Given the description of an element on the screen output the (x, y) to click on. 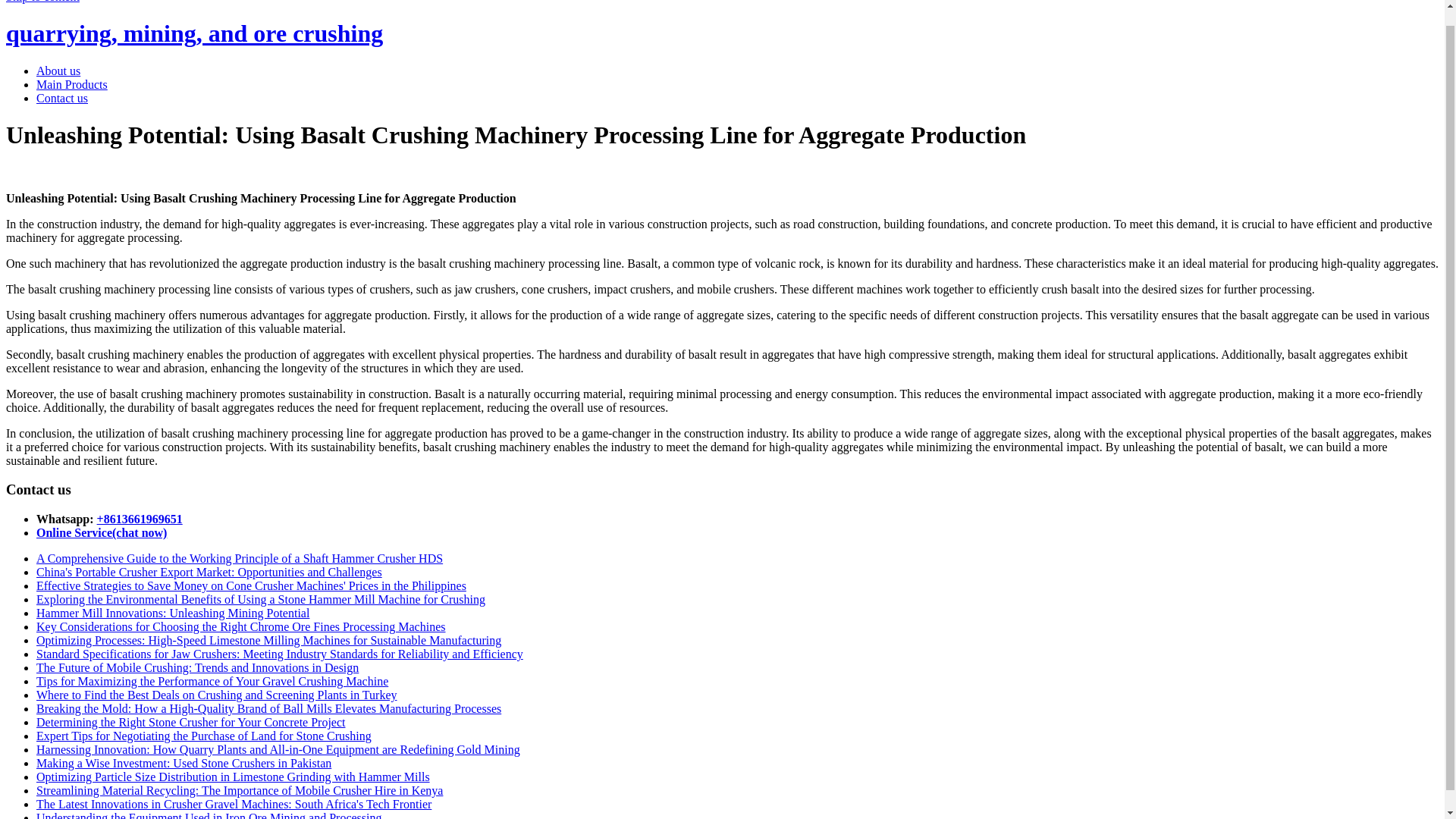
Contact us (61, 97)
Making a Wise Investment: Used Stone Crushers in Pakistan (183, 762)
Home (193, 32)
